Given the description of an element on the screen output the (x, y) to click on. 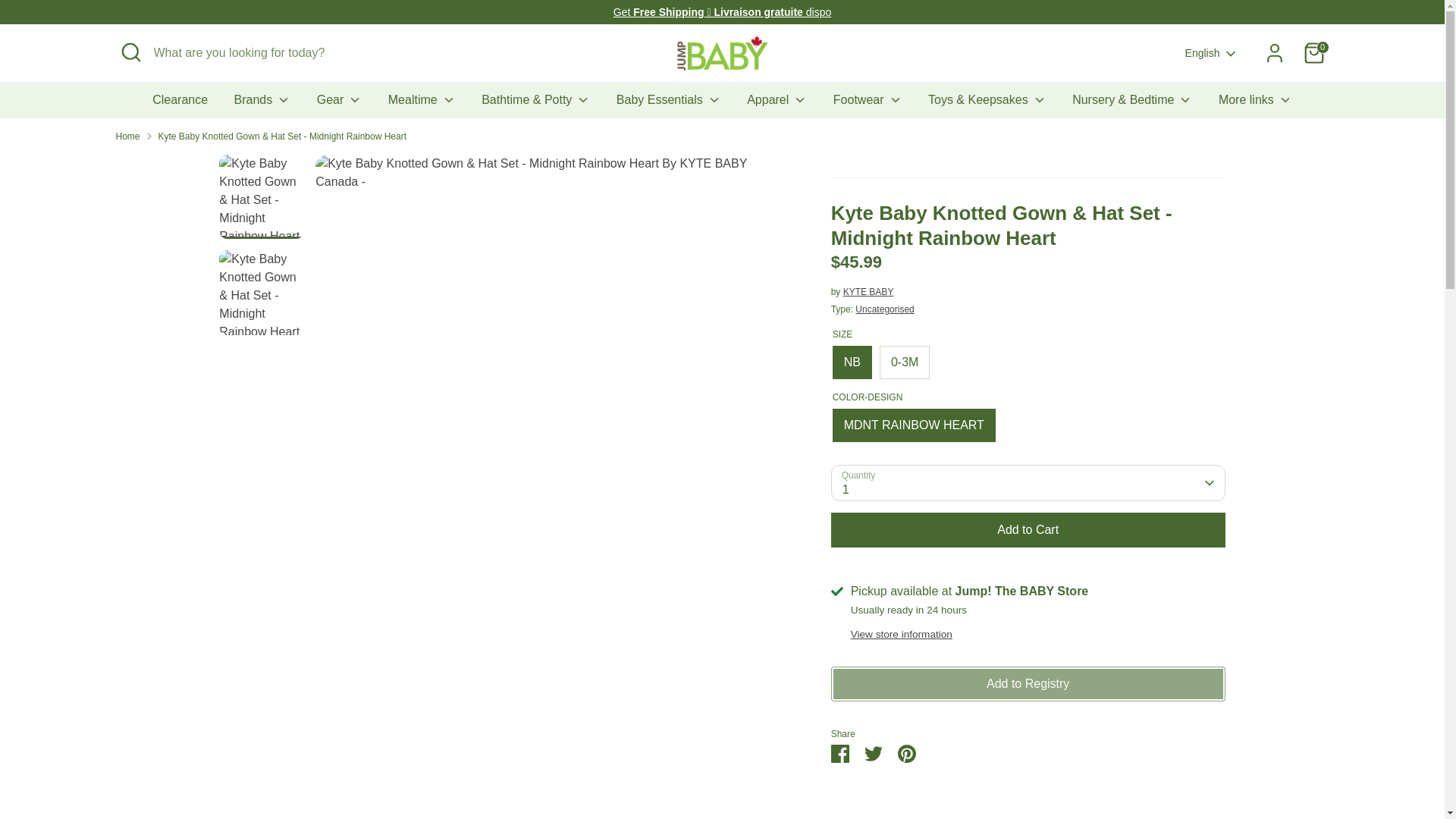
Shipping Policy (721, 11)
English (1212, 53)
0 (1312, 52)
